Given the description of an element on the screen output the (x, y) to click on. 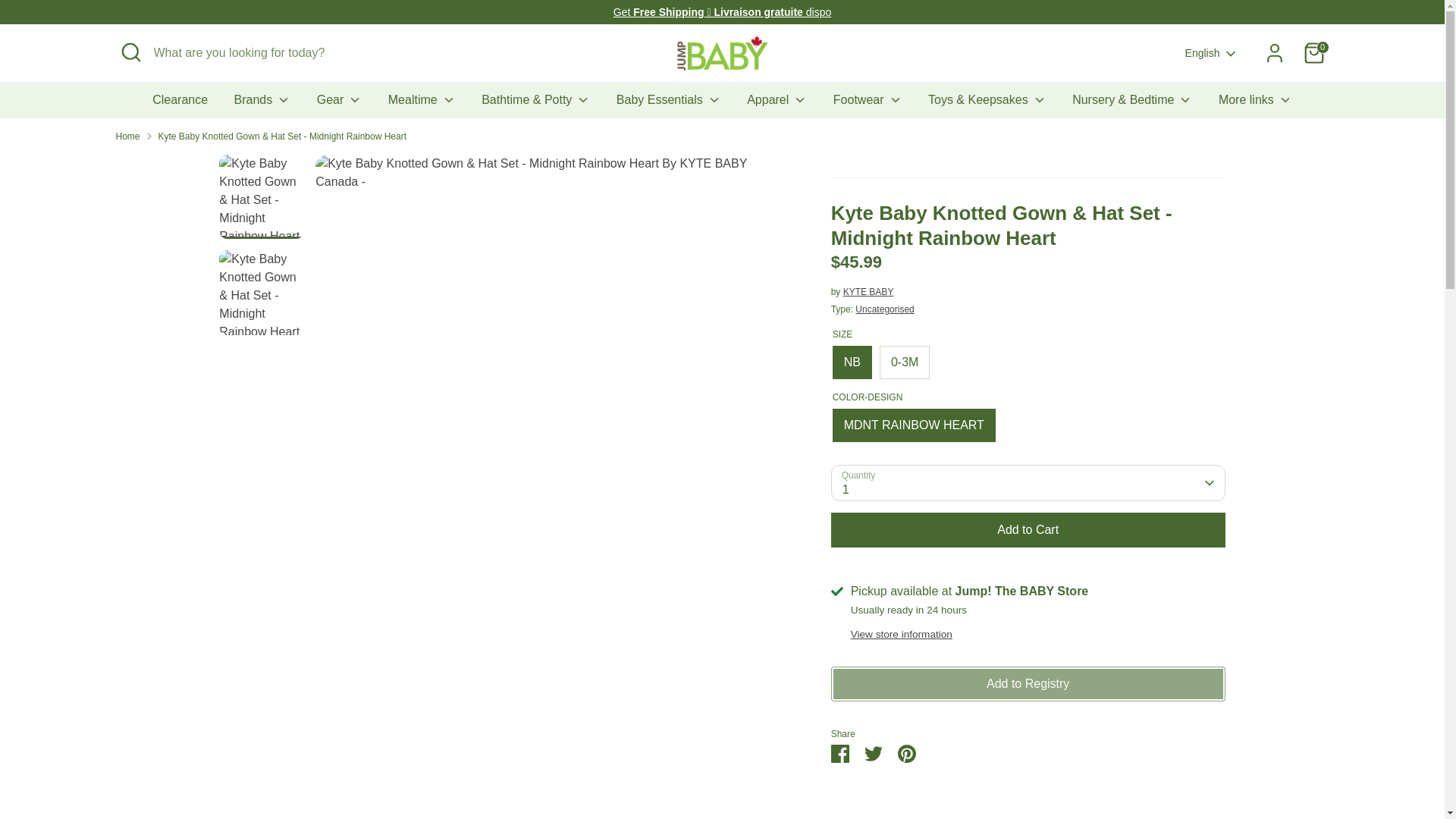
Shipping Policy (721, 11)
English (1212, 53)
0 (1312, 52)
